Given the description of an element on the screen output the (x, y) to click on. 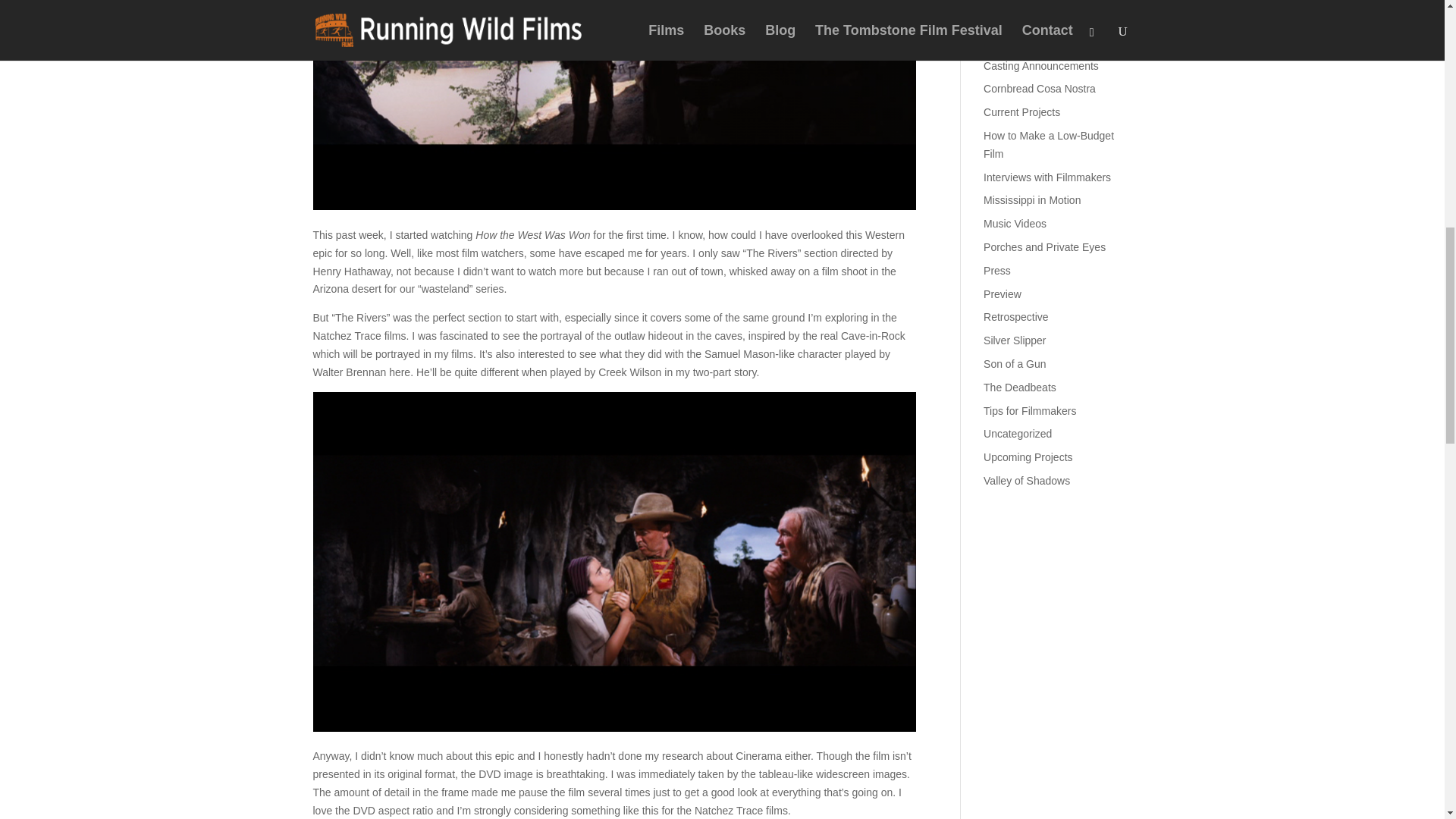
52 Short Films in 52 Weeks (1048, 0)
Current Projects (1021, 111)
Blood Country (1017, 19)
Bride of Violence (1024, 42)
Interviews with Filmmakers (1047, 177)
Porches and Private Eyes (1044, 246)
How to Make a Low-Budget Film (1048, 144)
Casting Announcements (1041, 65)
Music Videos (1015, 223)
Mississippi in Motion (1032, 200)
